Given the description of an element on the screen output the (x, y) to click on. 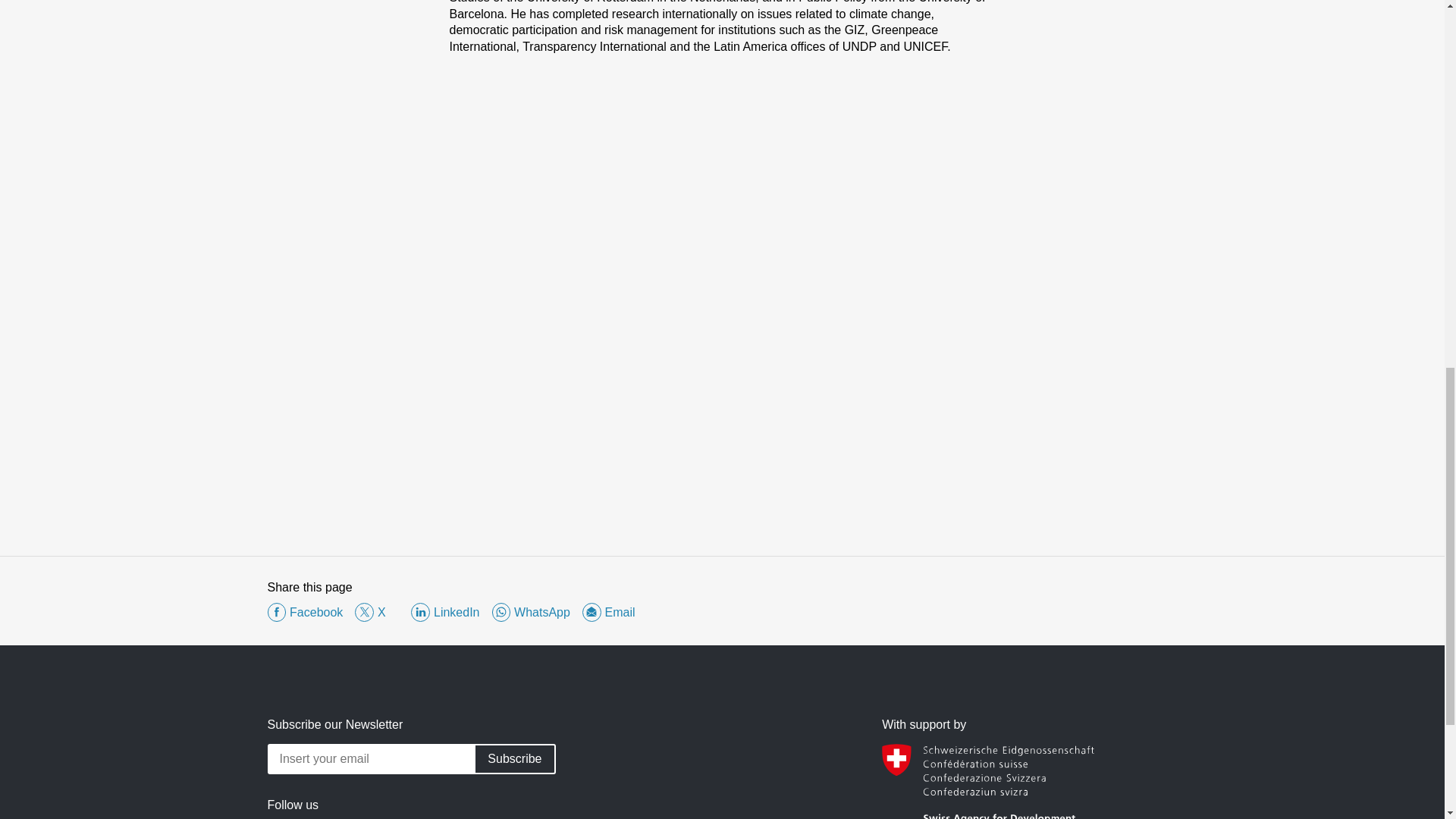
Instagram (616, 816)
Facebook (304, 611)
Youtube (458, 816)
Facebook (306, 816)
WhatsApp (530, 611)
Email (608, 611)
Subscribe (514, 758)
X     (376, 611)
X     (385, 816)
